Given the description of an element on the screen output the (x, y) to click on. 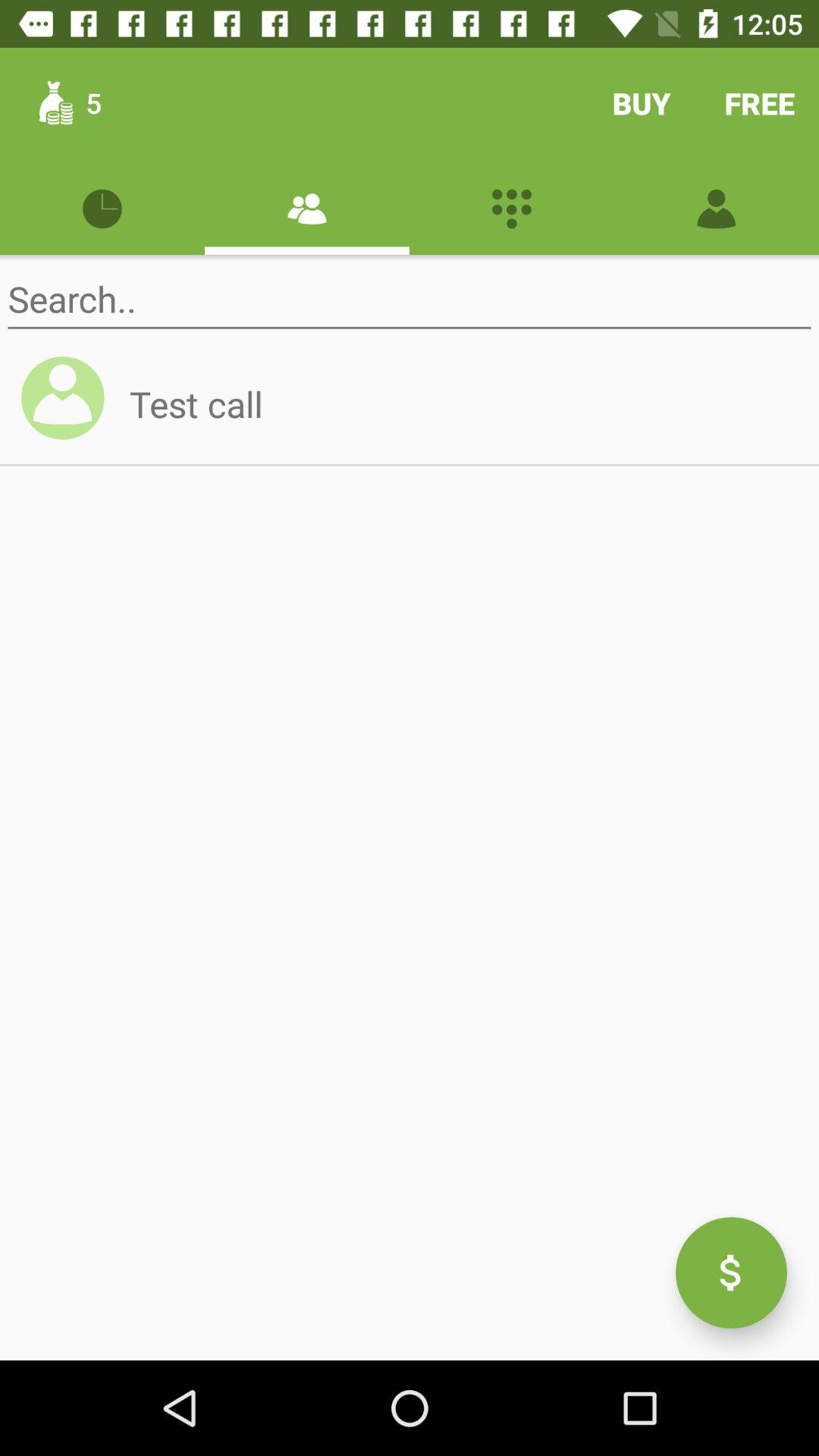
press the buy icon (641, 103)
